Given the description of an element on the screen output the (x, y) to click on. 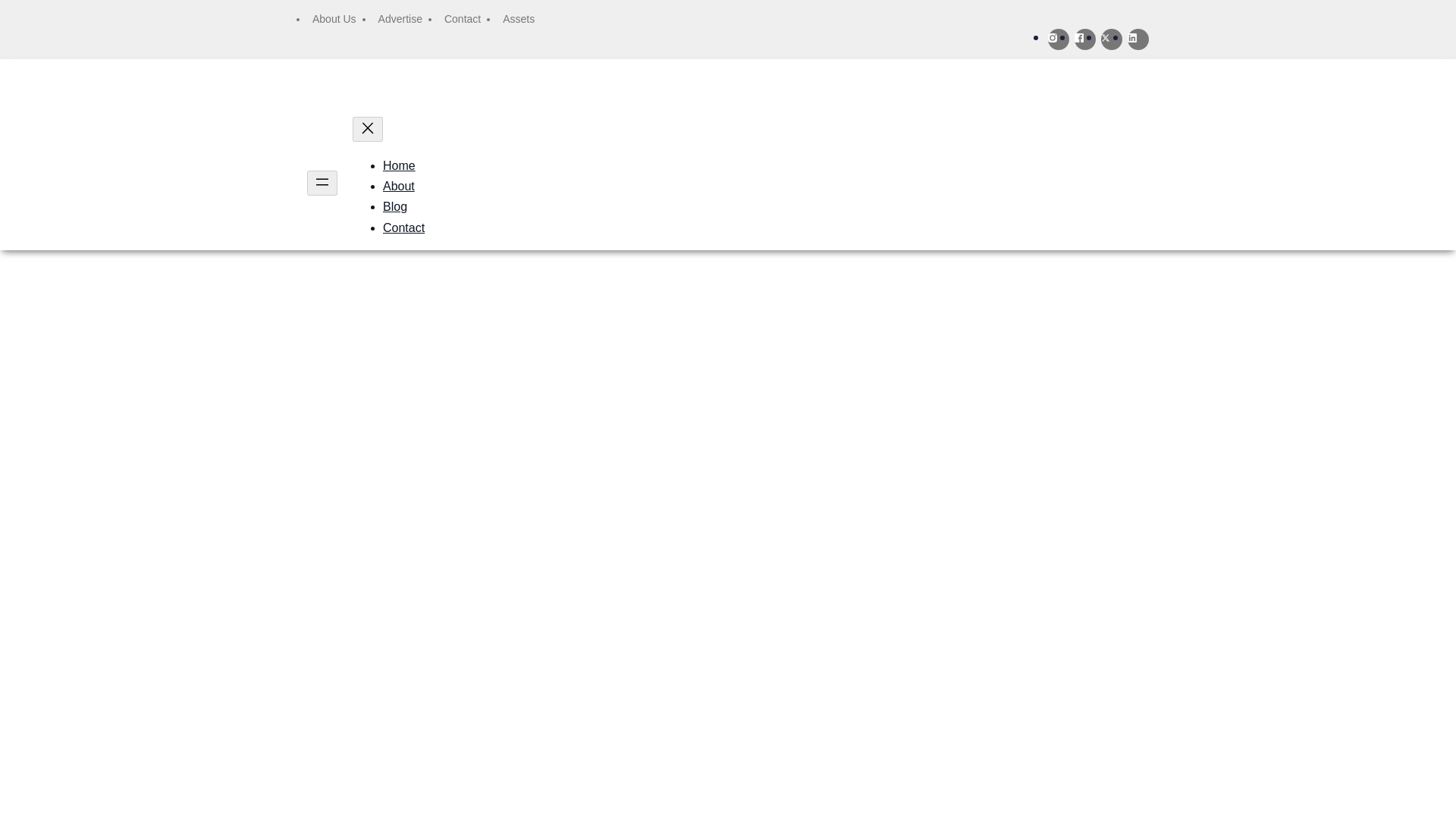
About (398, 185)
Blog (394, 205)
Assets (518, 19)
About Us (334, 19)
Contact (403, 227)
Advertise (400, 19)
Contact (462, 19)
Home (398, 164)
